Given the description of an element on the screen output the (x, y) to click on. 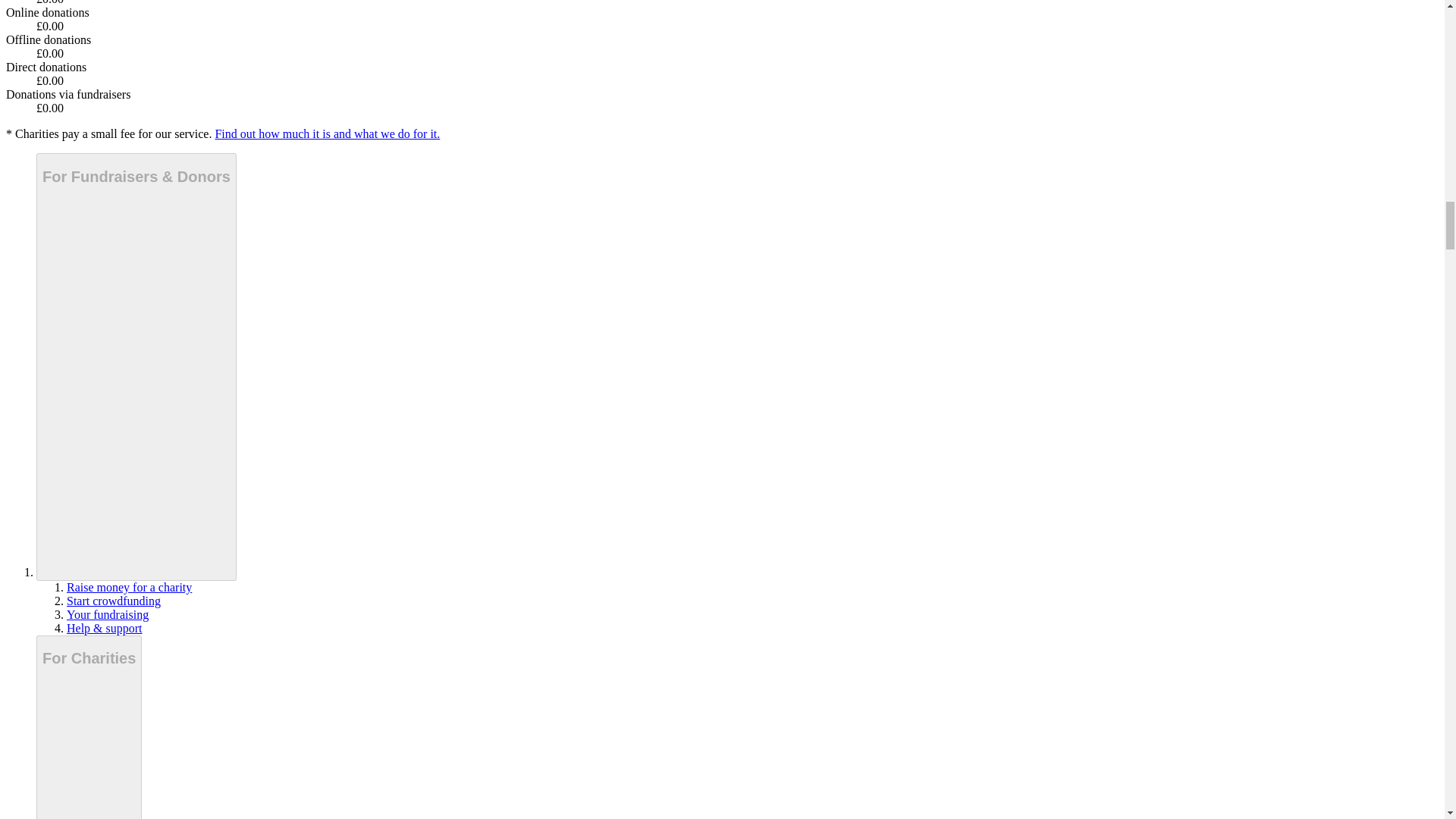
Find out how much it is and what we do for it. (326, 133)
Your fundraising (107, 614)
Start crowdfunding (113, 600)
Raise money for a charity (129, 586)
